Given the description of an element on the screen output the (x, y) to click on. 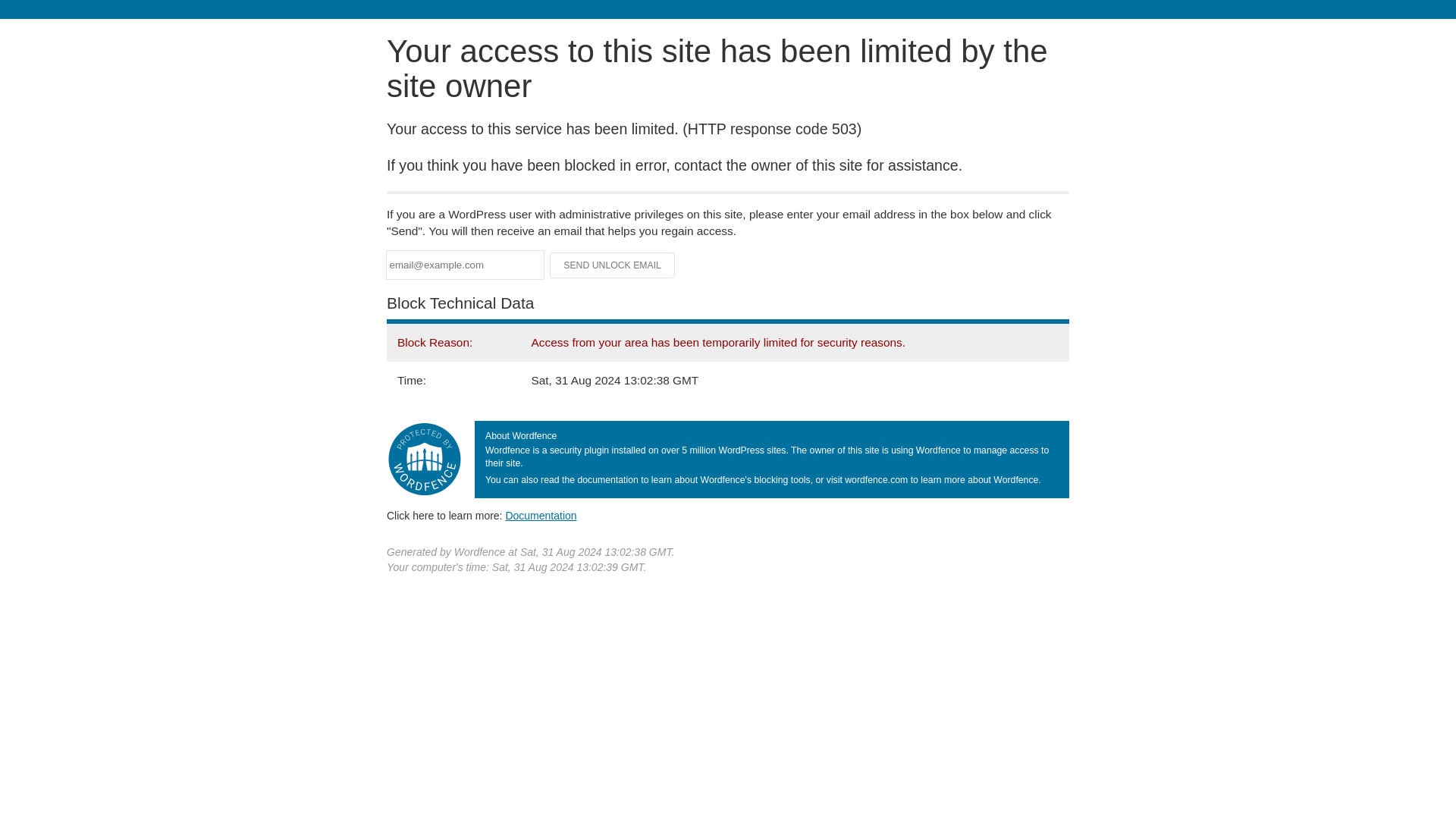
Send Unlock Email (612, 265)
Documentation (540, 515)
Send Unlock Email (612, 265)
